Given the description of an element on the screen output the (x, y) to click on. 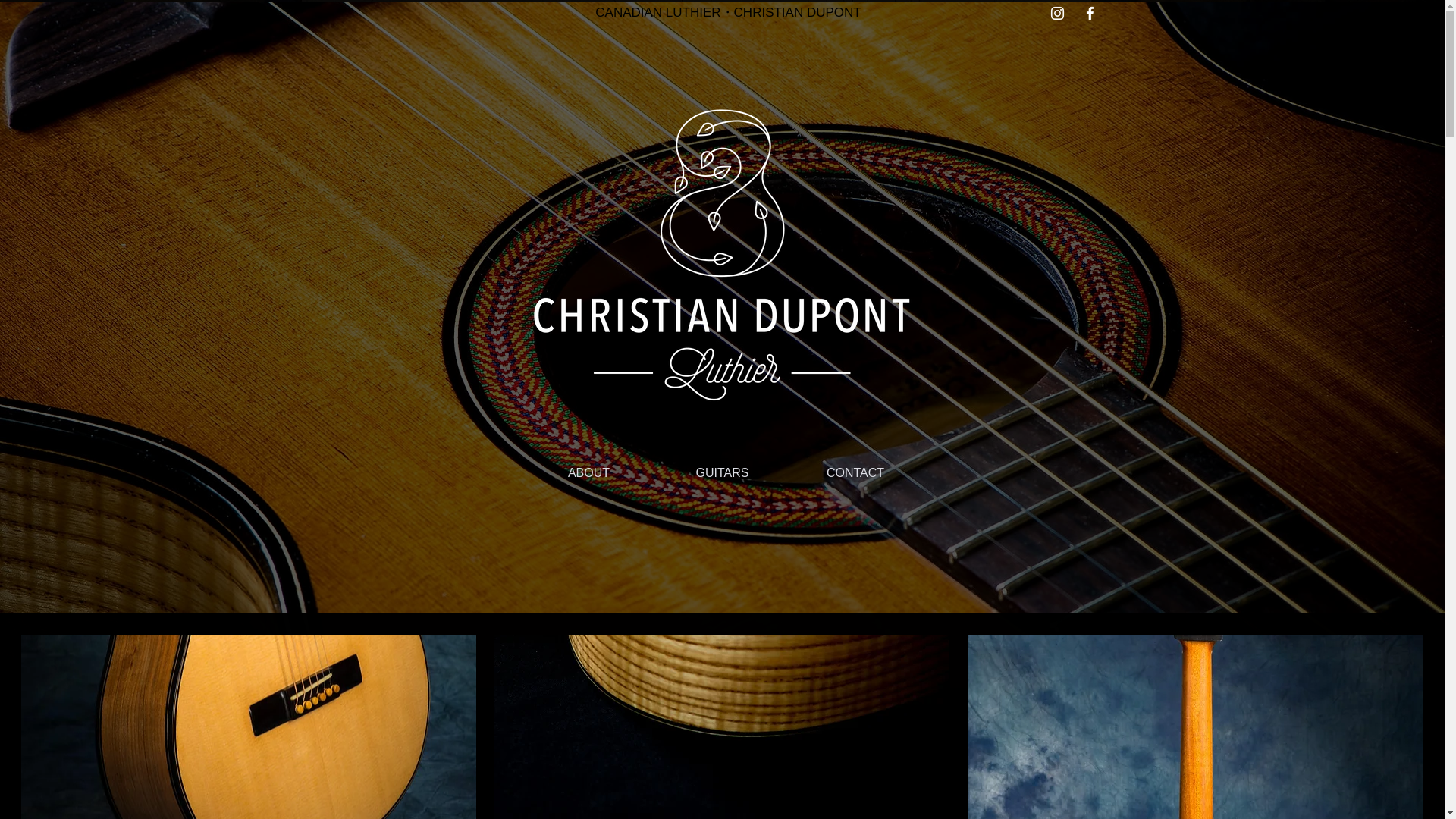
CONTACT (855, 473)
GUITARS (722, 473)
ABOUT (588, 473)
